Given the description of an element on the screen output the (x, y) to click on. 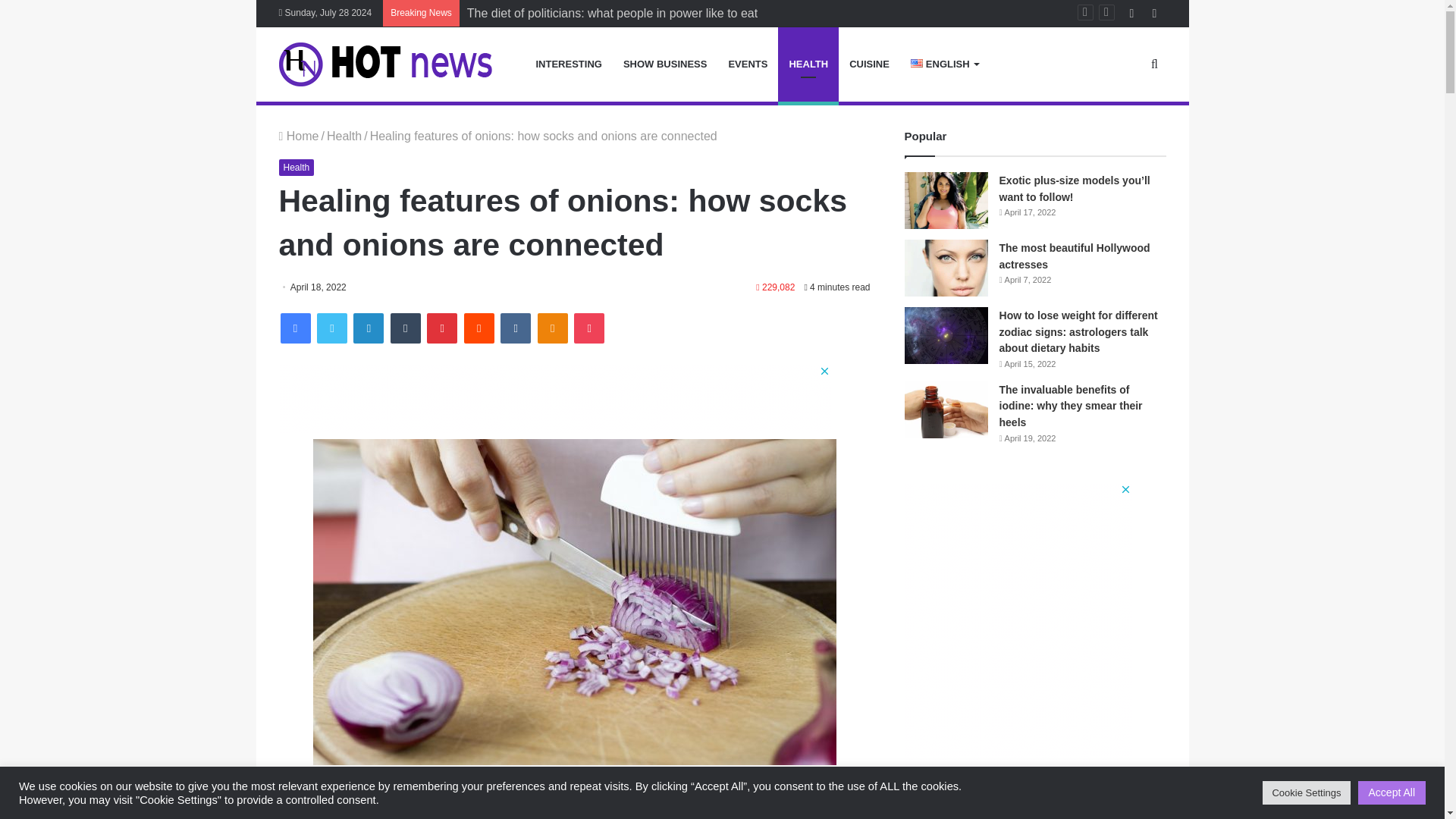
Odnoklassniki (552, 327)
VKontakte (515, 327)
Tumblr (405, 327)
Twitter (332, 327)
Reddit (479, 327)
Health (296, 167)
Pocket (588, 327)
LinkedIn (368, 327)
3rd party ad content (555, 398)
Home (298, 135)
Odnoklassniki (552, 327)
ENGLISH (943, 64)
SHOW BUSINESS (664, 64)
INTERESTING (567, 64)
VKontakte (515, 327)
